Given the description of an element on the screen output the (x, y) to click on. 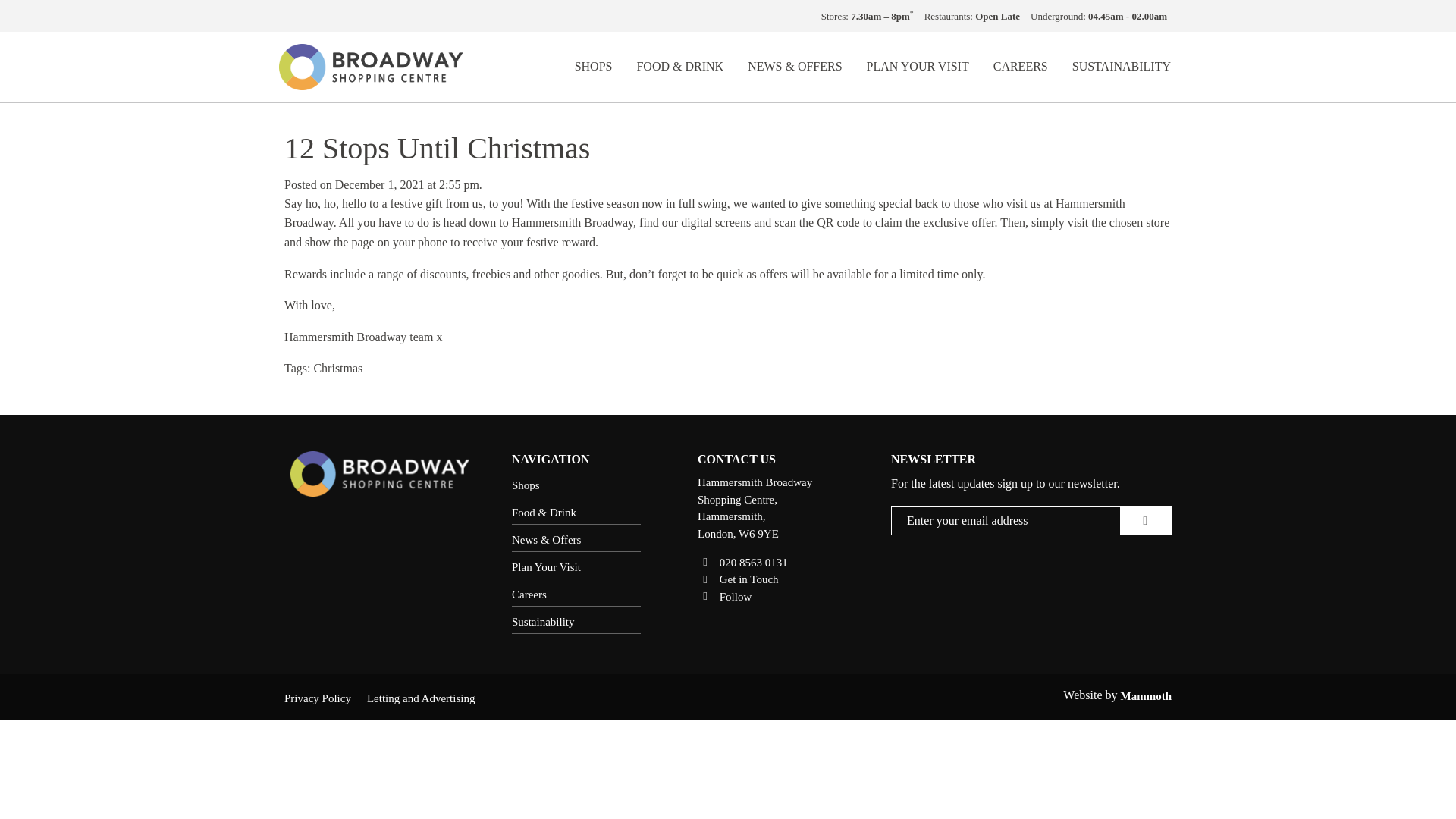
Christmas (337, 367)
Mammoth (1146, 695)
Privacy Policy (321, 698)
020 8563 0131 (742, 562)
CAREERS (1020, 66)
Sustainability (576, 621)
Instagram (724, 596)
PLAN YOUR VISIT (917, 66)
Follow (724, 596)
SUSTAINABILITY (1120, 66)
